Given the description of an element on the screen output the (x, y) to click on. 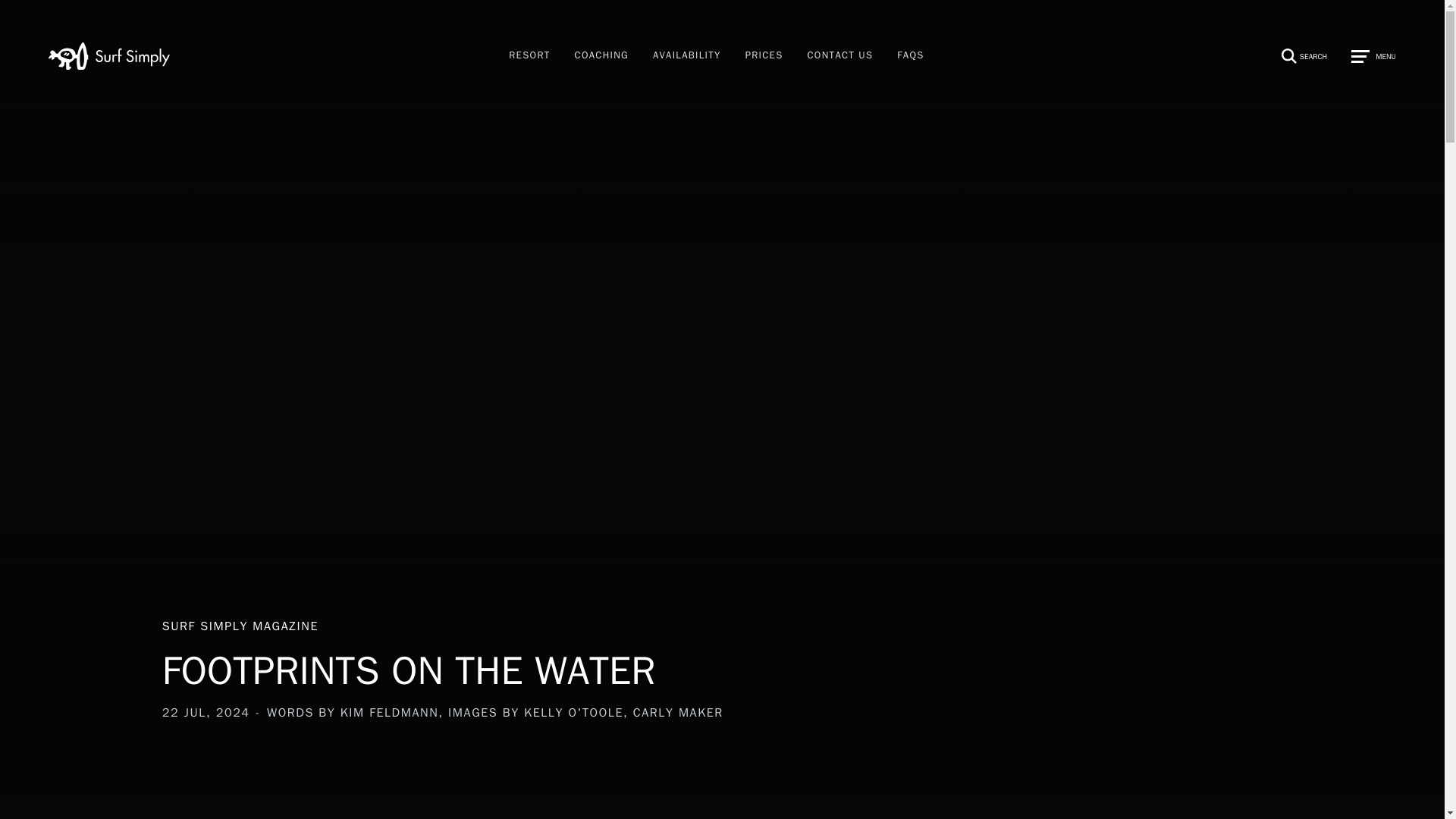
AVAILABILITY (686, 55)
SEARCH (1294, 55)
CONTACT US (839, 55)
FAQS (910, 55)
Surf Simply (109, 55)
RESORT (494, 656)
COACHING (529, 55)
PRICES (601, 55)
Open main menu (763, 55)
